Given the description of an element on the screen output the (x, y) to click on. 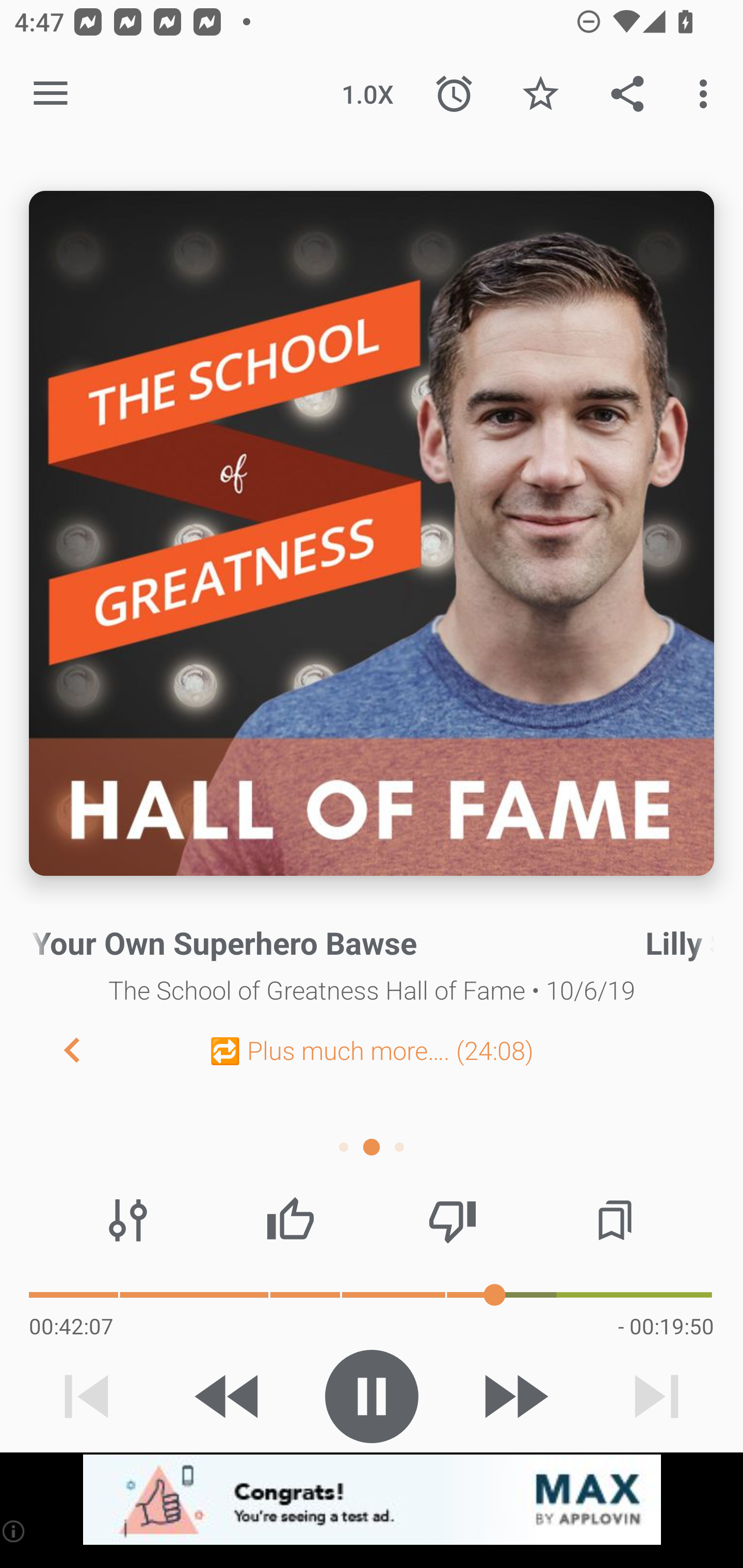
Open navigation sidebar (50, 93)
1.0X (366, 93)
Sleep Timer (453, 93)
Favorite (540, 93)
Share (626, 93)
More options (706, 93)
Episode description (371, 533)
Previous Chapter (56, 1049)
🔁 Plus much more…. (24:08) (371, 1050)
Audio effects (127, 1220)
Thumbs up (290, 1220)
Thumbs down (452, 1220)
Chapters / Bookmarks (614, 1220)
- 00:19:50 (666, 1325)
Previous track (86, 1395)
Skip 15s backward (228, 1395)
Play / Pause (371, 1395)
Skip 30s forward (513, 1395)
Next track (656, 1395)
app-monetization (371, 1500)
(i) (14, 1531)
